Given the description of an element on the screen output the (x, y) to click on. 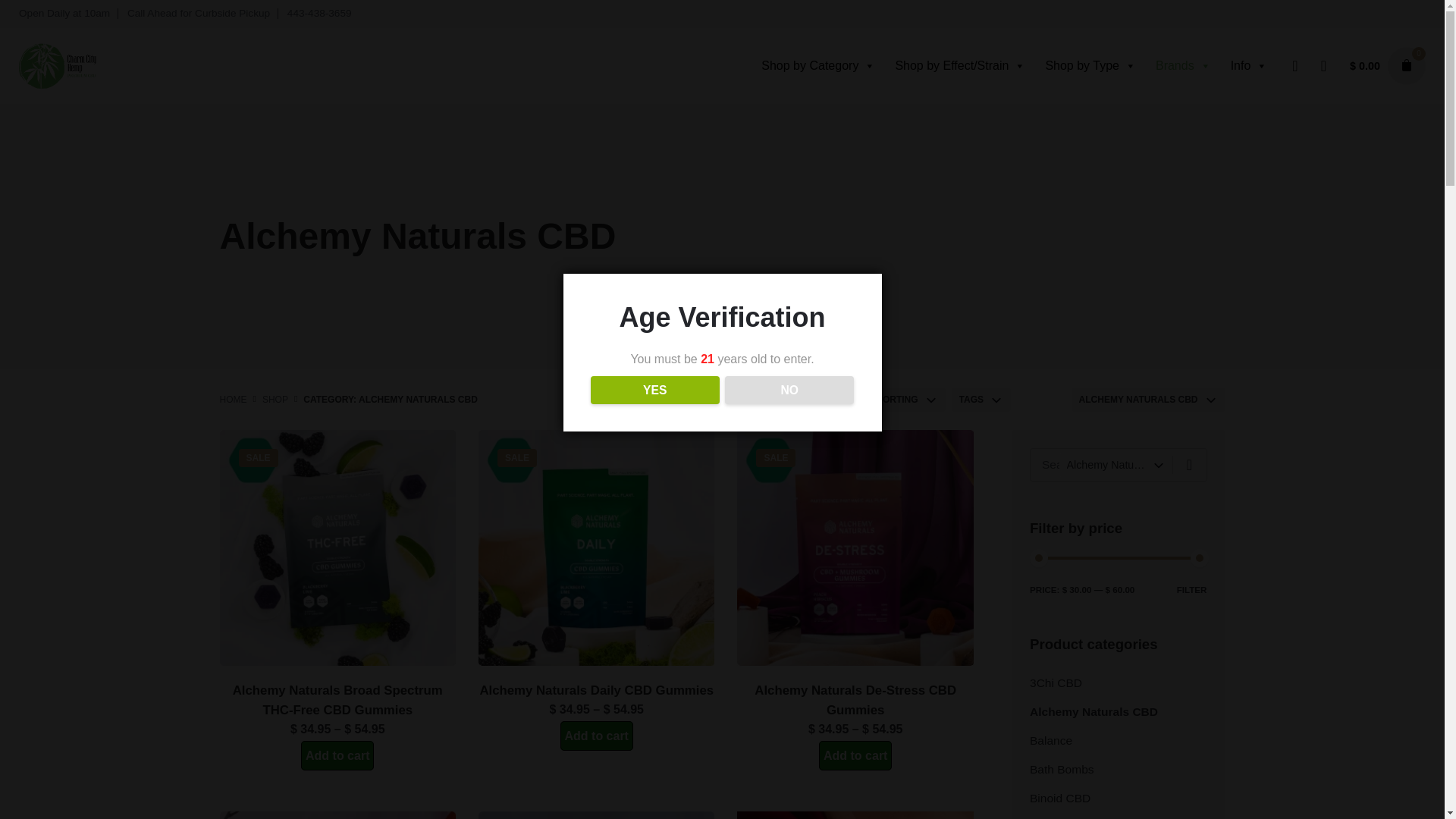
Tags (975, 398)
Alchemy Naturals CBD (1141, 398)
Alchemy Naturals CBD (1109, 464)
Default sorting (878, 398)
